Given the description of an element on the screen output the (x, y) to click on. 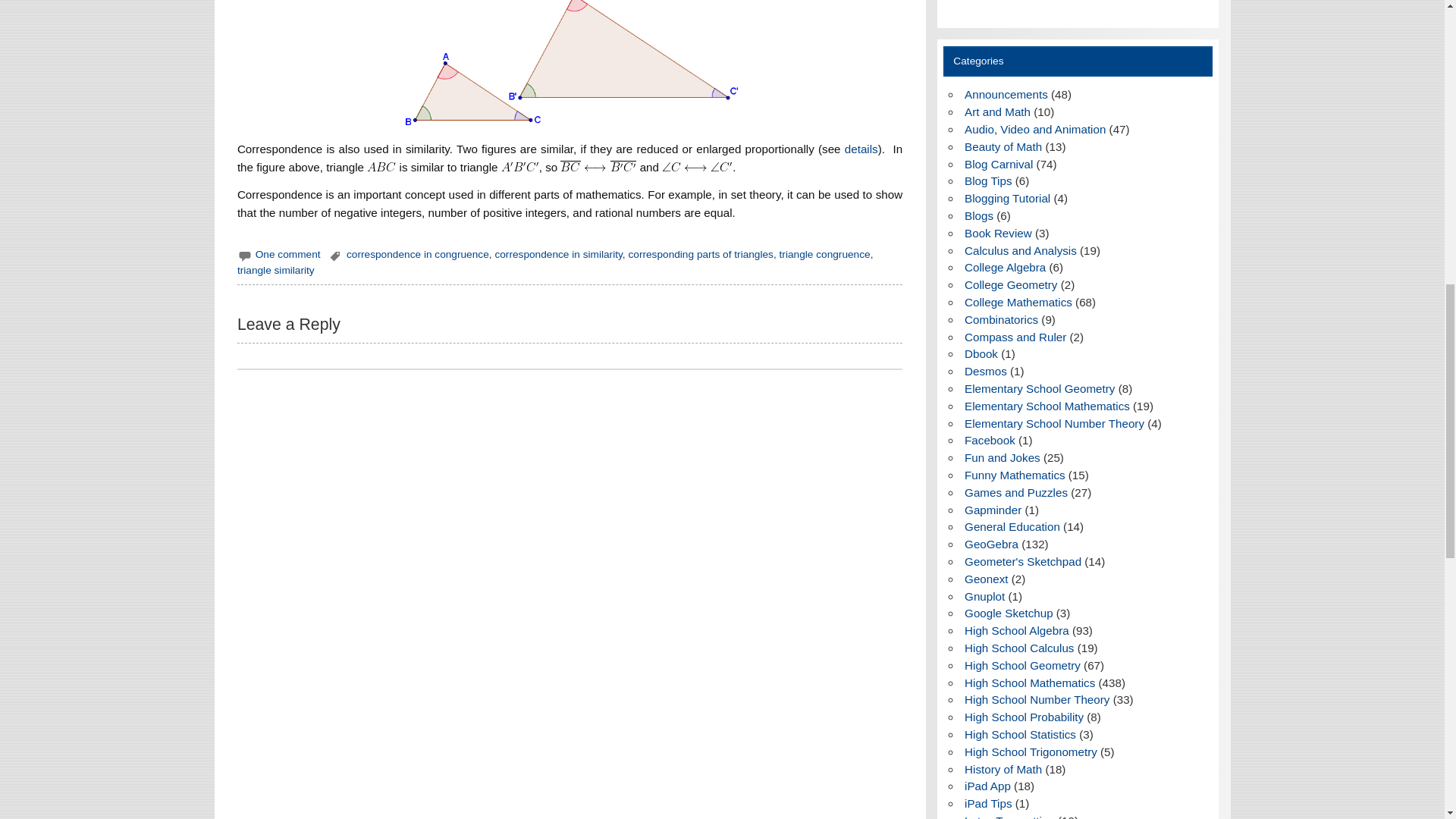
correspondence in similarity (558, 254)
correspondence-similarity (569, 64)
correspondence in congruence (417, 254)
details (860, 148)
One comment (288, 254)
triangle congruence (824, 254)
triangle similarity (275, 270)
corresponding parts of triangles (700, 254)
